Given the description of an element on the screen output the (x, y) to click on. 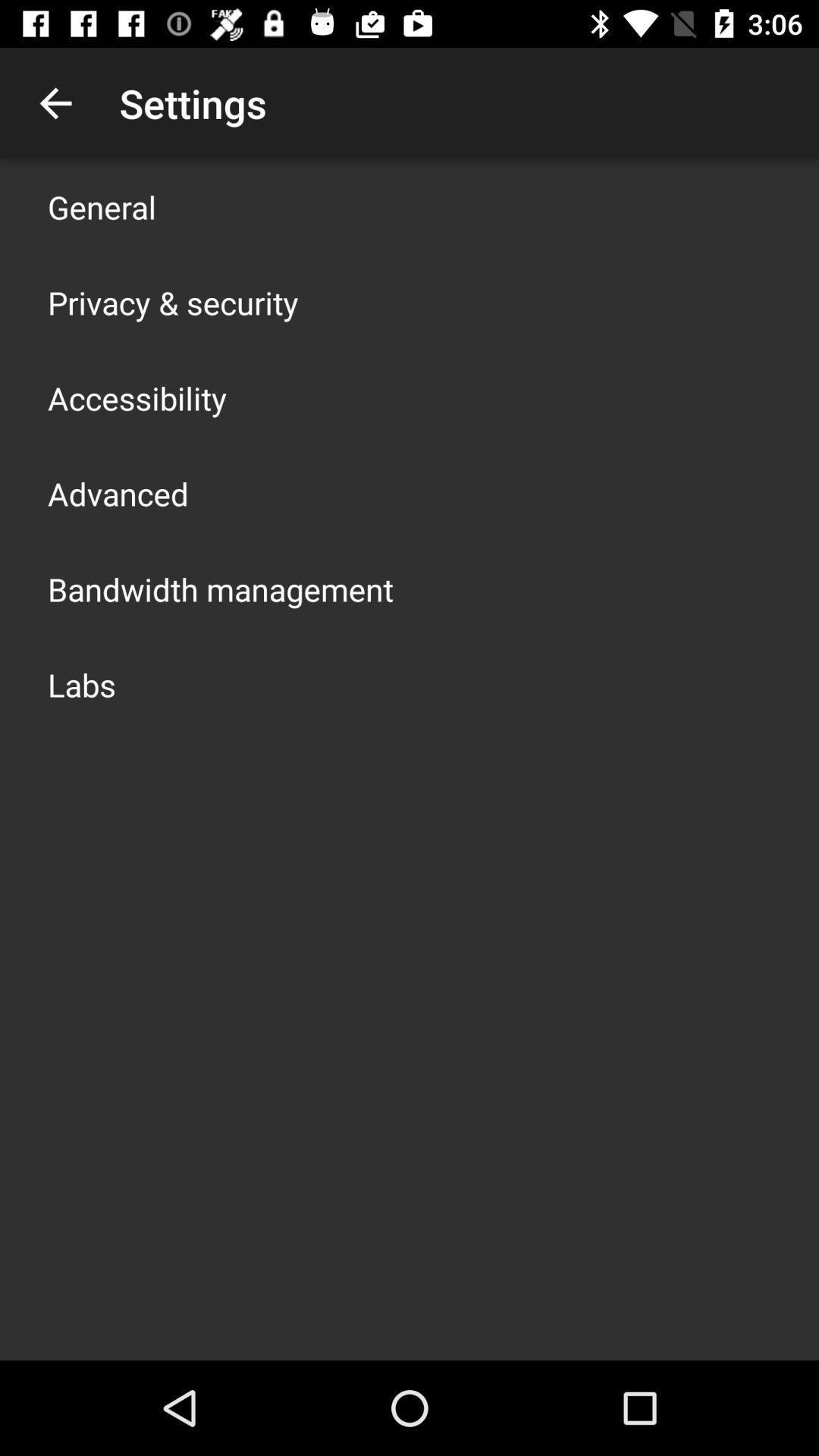
swipe until general (101, 206)
